Given the description of an element on the screen output the (x, y) to click on. 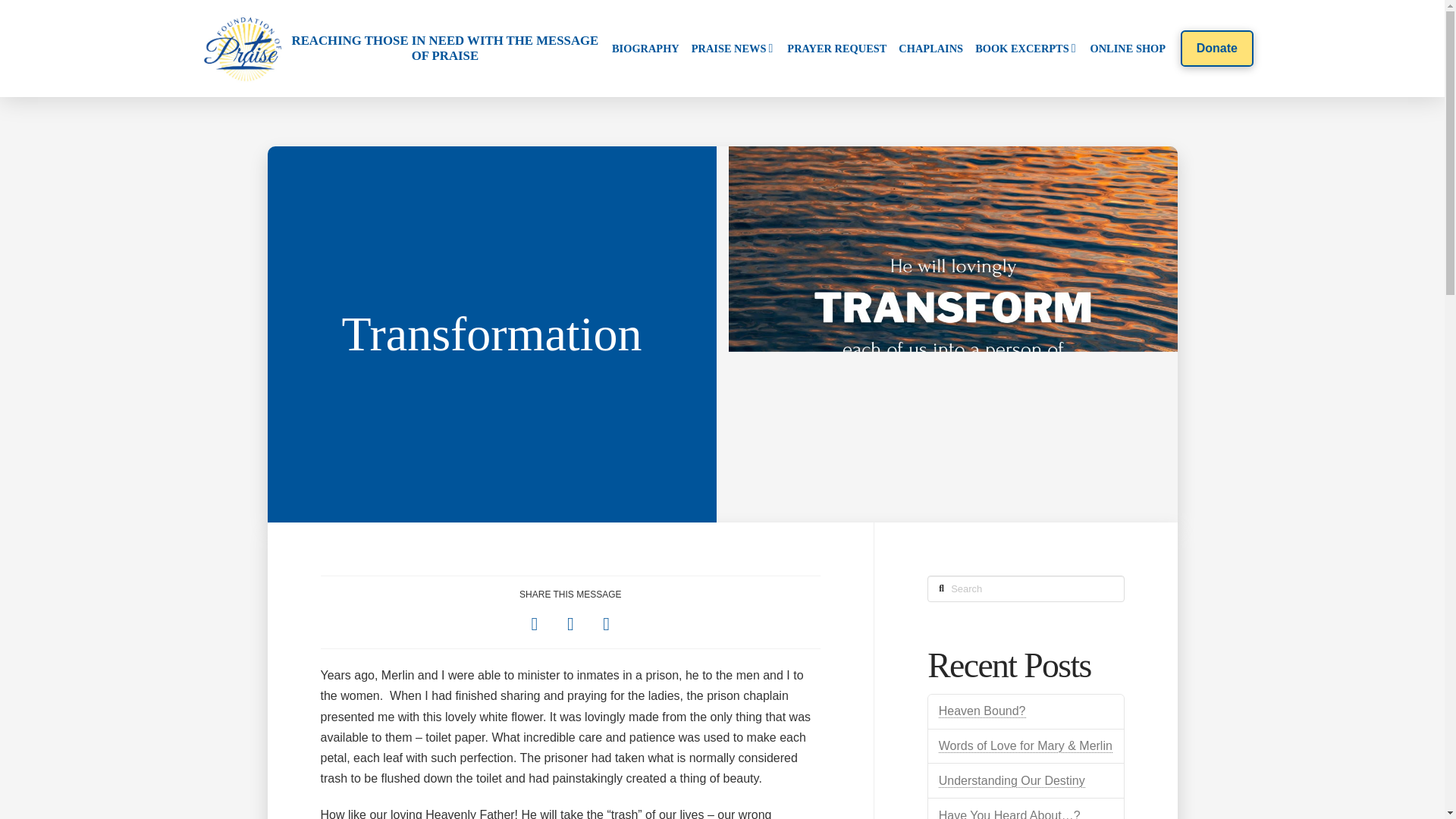
PRAISE NEWS (733, 48)
Share on Facebook (533, 623)
PRAYER REQUEST (836, 48)
Share via Email (606, 623)
ONLINE SHOP (1128, 48)
Share on X (570, 623)
BOOK EXCERPTS (1026, 48)
Donate (1216, 48)
Heaven Bound? (982, 711)
